Given the description of an element on the screen output the (x, y) to click on. 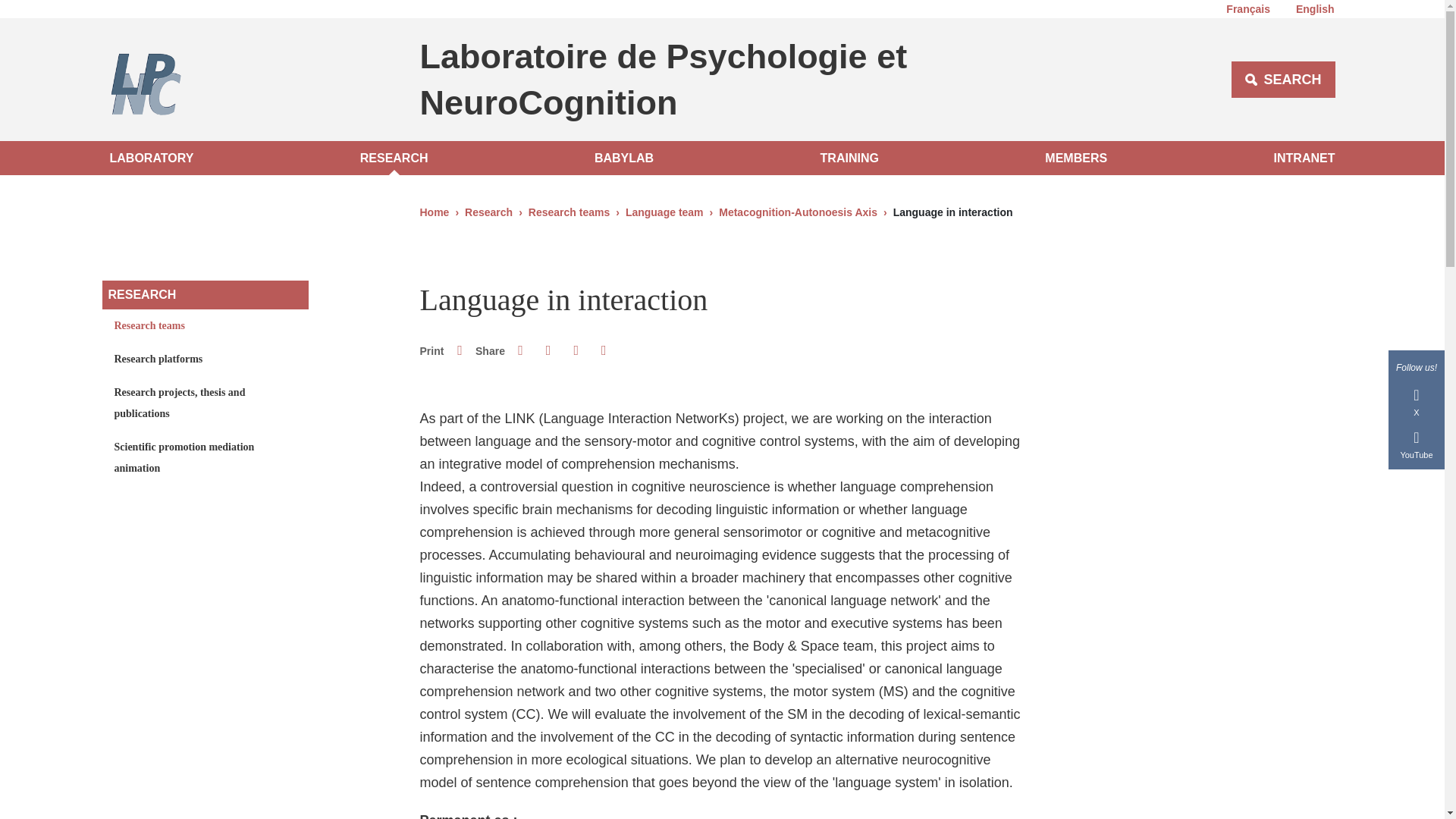
LABORATORY (154, 157)
Share on LinkedIn (576, 350)
SEARCH (1283, 79)
INTRANET (1301, 157)
Share on Facebook (520, 350)
Share on X (547, 350)
TRAINING (849, 157)
Print (458, 349)
English (1308, 12)
RESEARCH (393, 157)
